Given the description of an element on the screen output the (x, y) to click on. 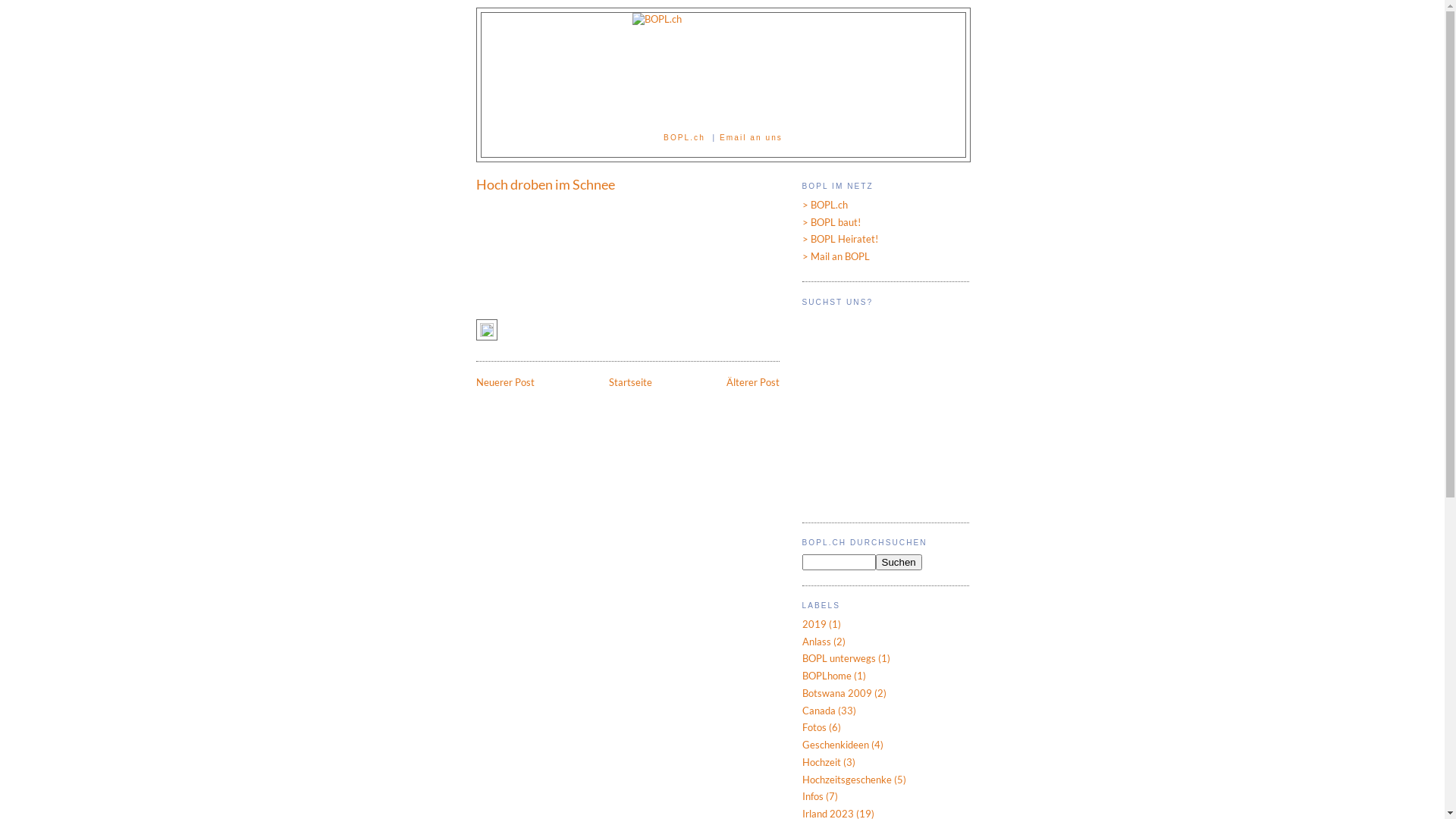
Fotos Element type: text (814, 727)
> Mail an BOPL Element type: text (835, 256)
Anlass Element type: text (816, 641)
Email an uns Element type: text (750, 137)
BOPL.ch Element type: text (684, 137)
BOPLhome Element type: text (826, 675)
Post bearbeiten Element type: hover (486, 333)
Infos Element type: text (812, 796)
> BOPL baut! Element type: text (831, 222)
> BOPL Heiratet! Element type: text (840, 238)
Startseite Element type: text (629, 382)
search Element type: hover (838, 562)
Neuerer Post Element type: text (505, 382)
Canada Element type: text (818, 710)
Botswana 2009 Element type: text (837, 693)
Geschenkideen Element type: text (835, 744)
2019 Element type: text (814, 624)
Hoch droben im Schnee Element type: text (627, 183)
search Element type: hover (898, 562)
Hochzeit Element type: text (821, 762)
BOPL unterwegs Element type: text (838, 658)
> BOPL.ch Element type: text (824, 204)
Hochzeitsgeschenke Element type: text (846, 779)
Suchen Element type: text (898, 562)
